Given the description of an element on the screen output the (x, y) to click on. 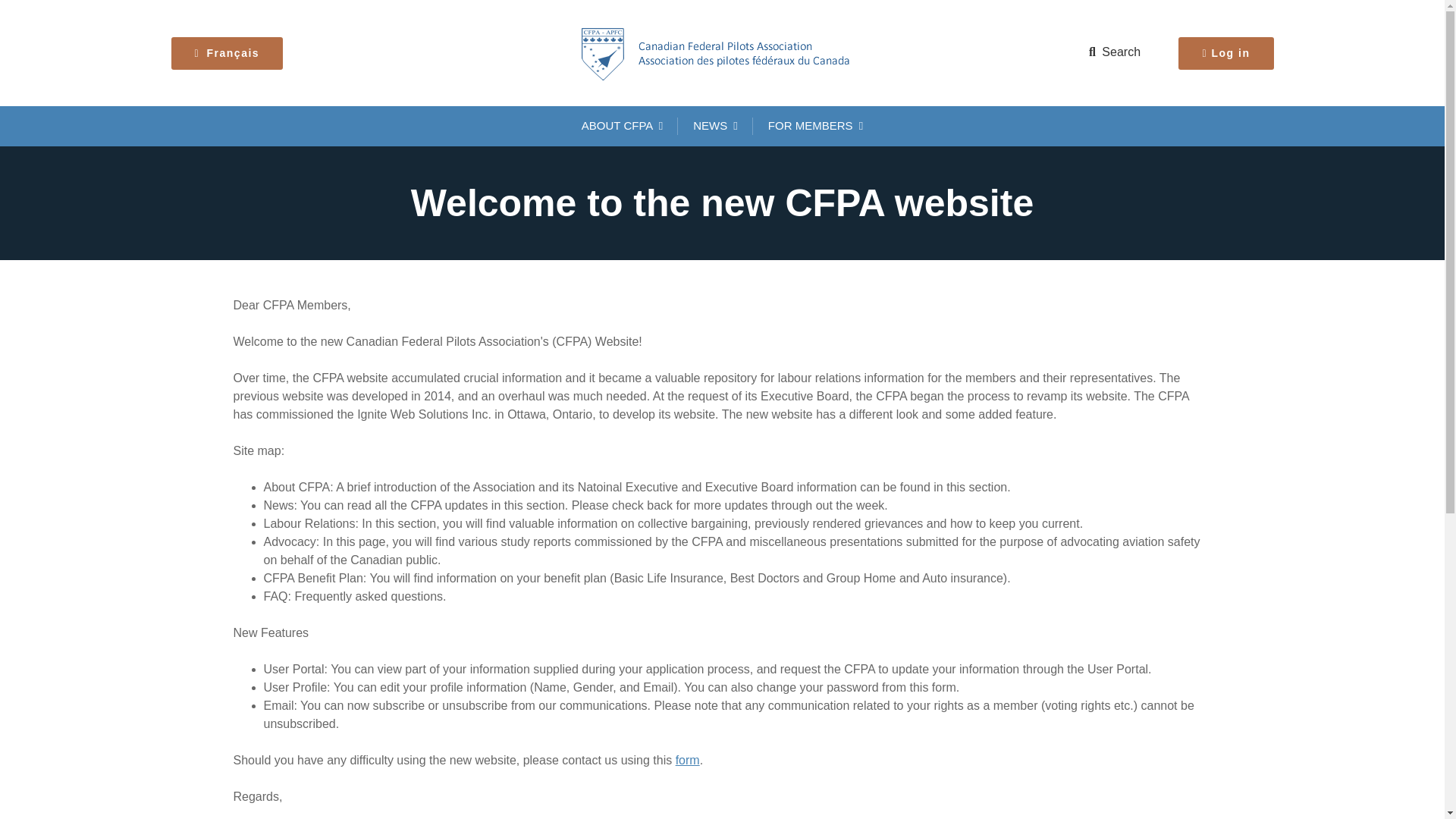
form (687, 759)
ABOUT CFPA (622, 125)
Log in (1224, 52)
Search (1114, 51)
NEWS (715, 125)
FOR MEMBERS (814, 125)
Message Sent (687, 759)
